Given the description of an element on the screen output the (x, y) to click on. 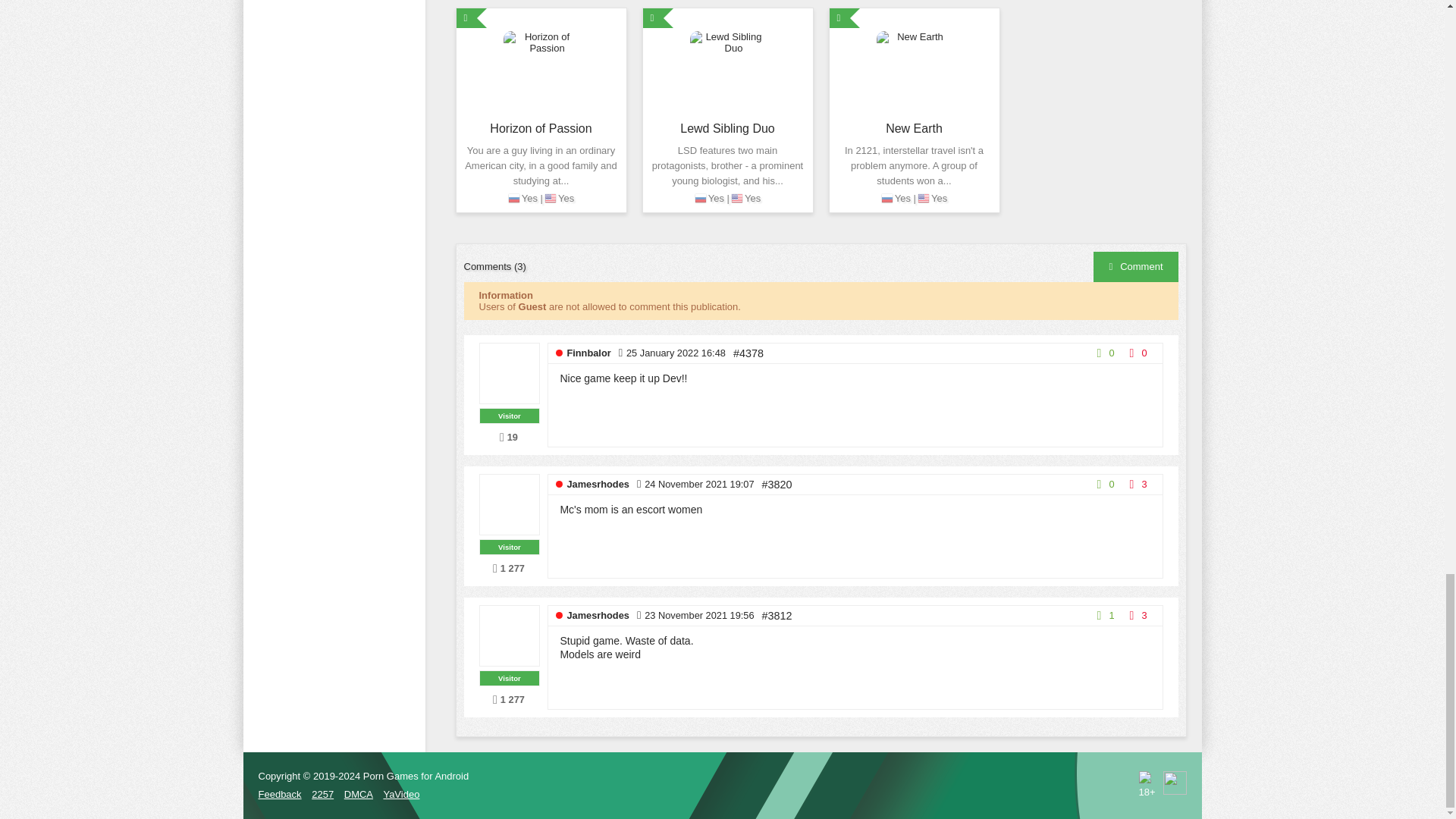
offline (559, 352)
offline (559, 615)
LiveInternet (1174, 782)
offline (559, 483)
